Given the description of an element on the screen output the (x, y) to click on. 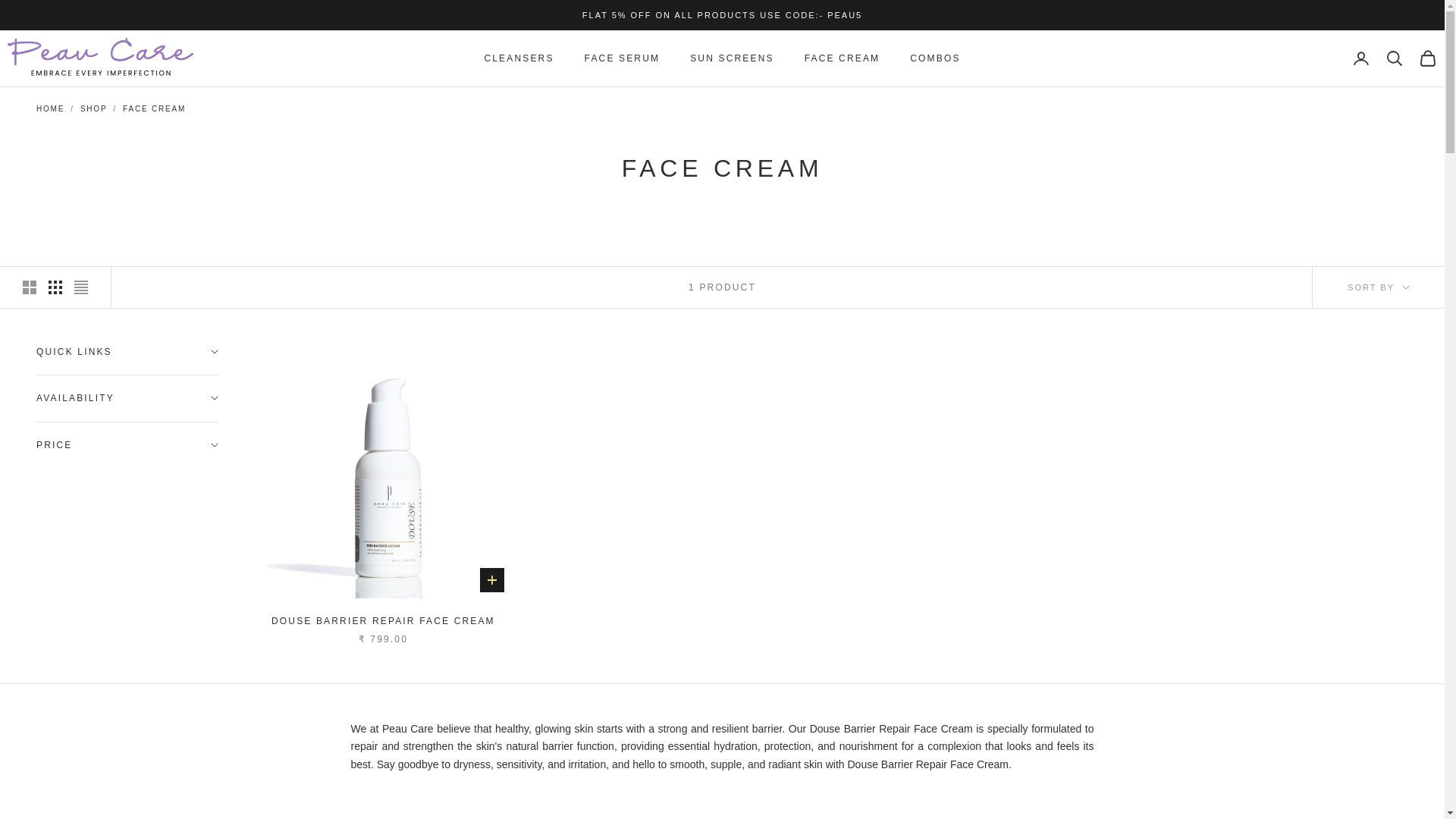
HOME (50, 108)
Open search (1394, 58)
SHOP (93, 108)
Peau Care (100, 58)
FACE CREAM (154, 108)
Open account page (1361, 58)
Open cart (1427, 58)
